Given the description of an element on the screen output the (x, y) to click on. 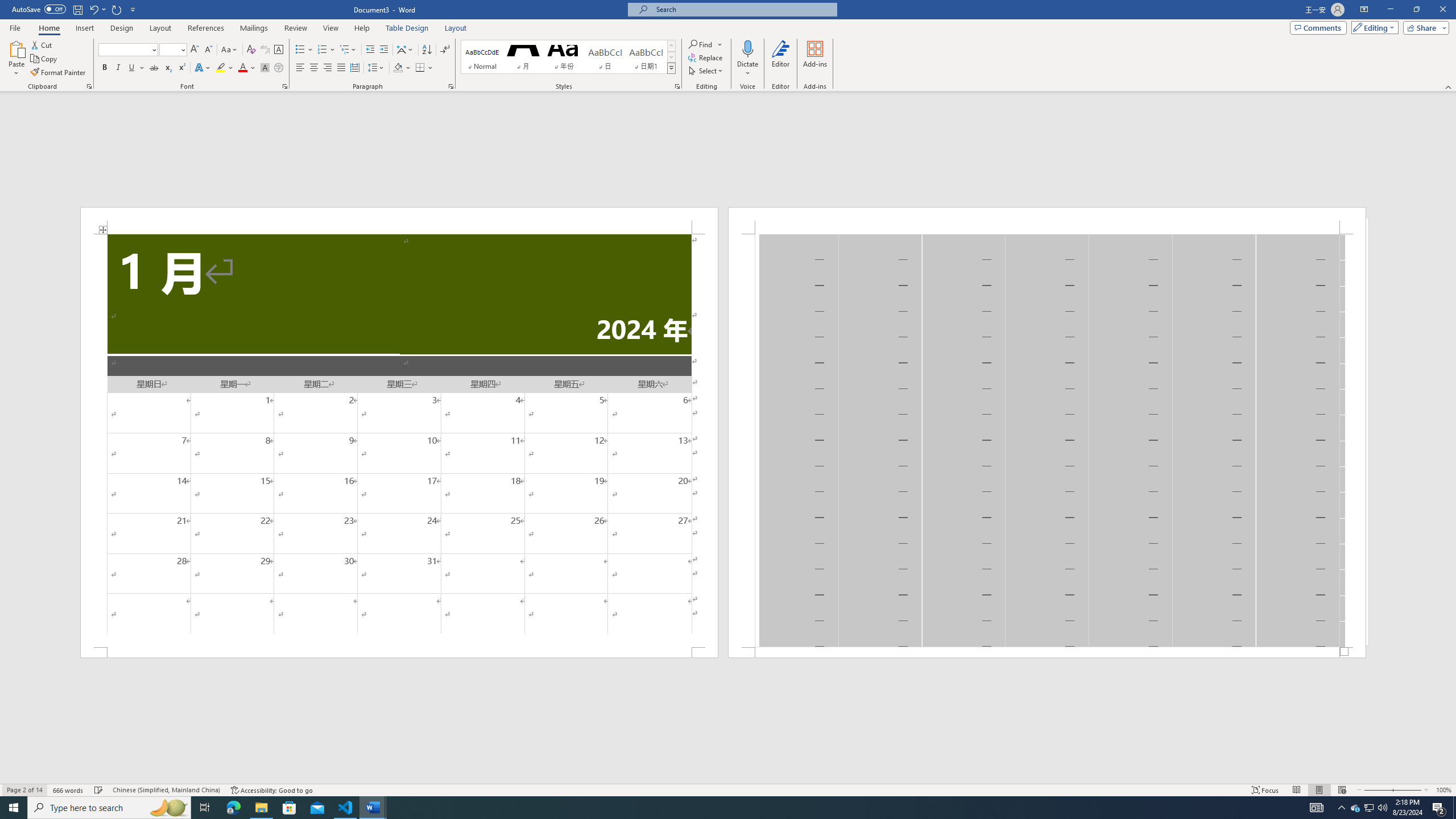
Text Highlight Color Yellow (220, 67)
Grow Font (193, 49)
Text Effects and Typography (202, 67)
Language Chinese (Simplified, Mainland China) (165, 790)
Phonetic Guide... (264, 49)
Text Highlight Color (224, 67)
Select (705, 69)
Page 1 content (398, 440)
